Given the description of an element on the screen output the (x, y) to click on. 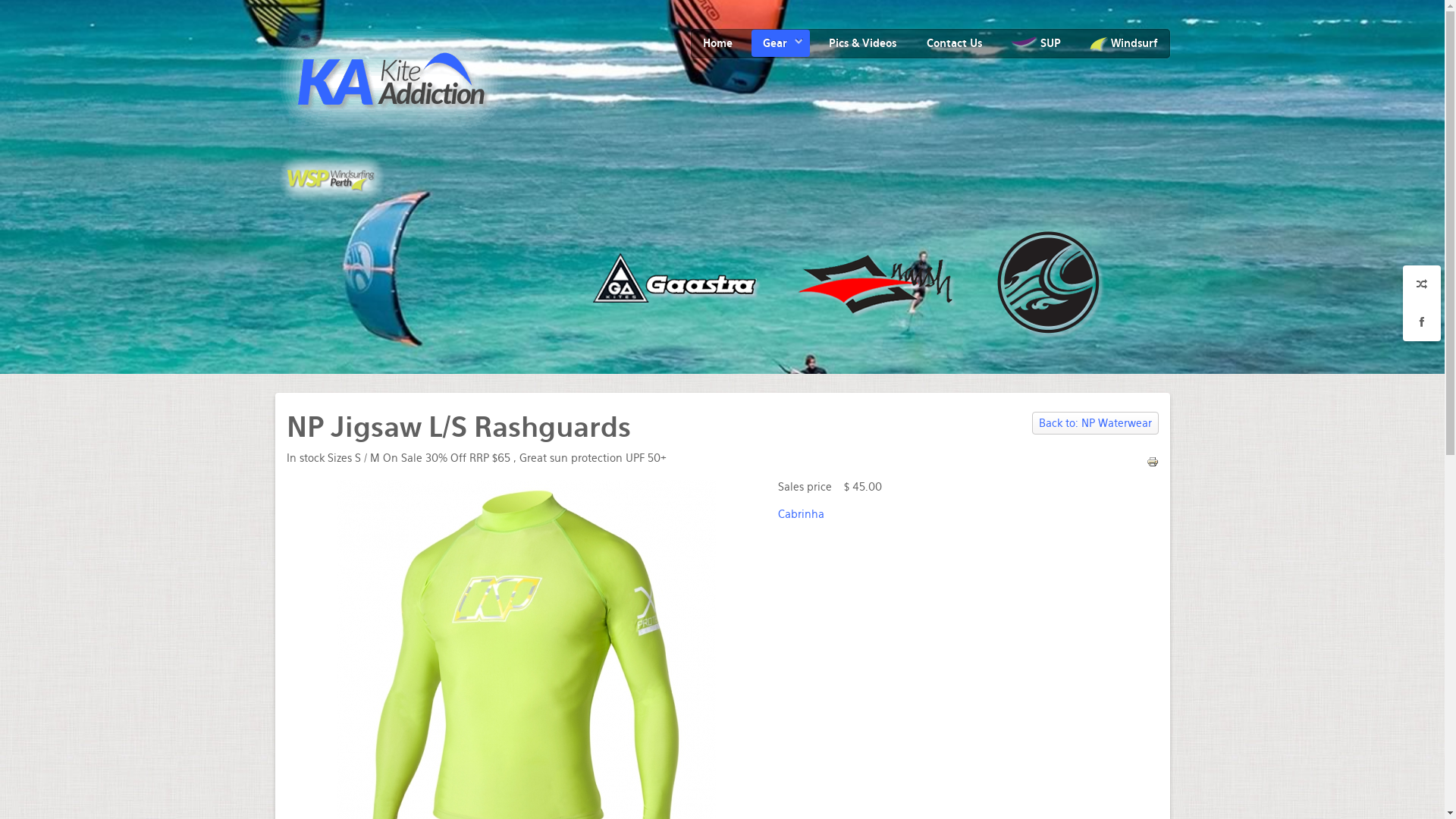
Back to: NP Waterwear Element type: text (1094, 422)
Home Element type: text (717, 42)
Cabrinha Element type: text (801, 514)
Gear Element type: text (779, 42)
SUP Element type: text (1036, 42)
Windsurf Element type: text (1124, 43)
Pics & Videos Element type: text (862, 42)
Print Element type: hover (1152, 461)
Contact Us Element type: text (953, 42)
